Given the description of an element on the screen output the (x, y) to click on. 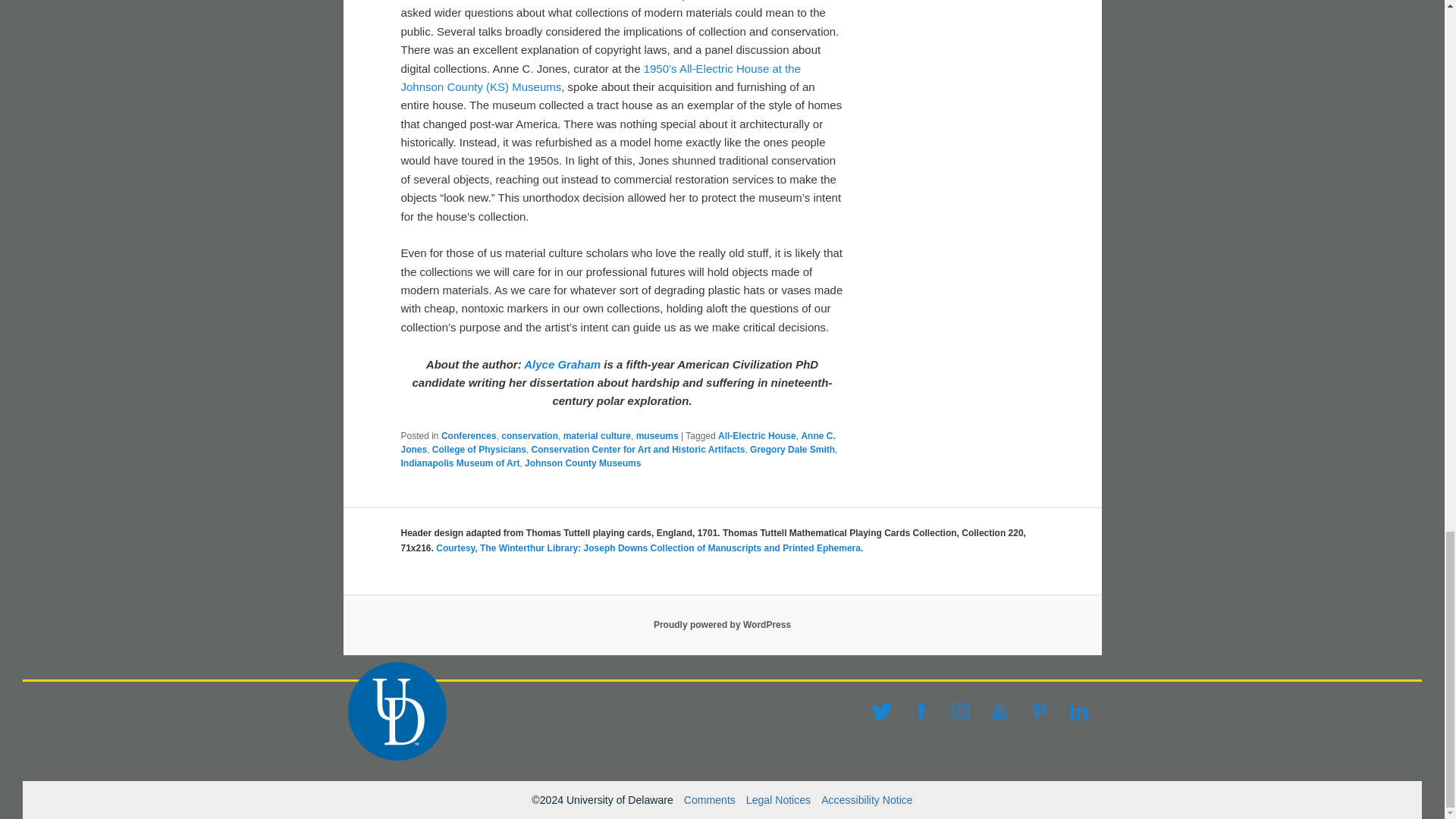
Subscribe me! (1027, 388)
material culture (596, 435)
Indianapolis Museum of Art (459, 462)
conservation (528, 435)
Proudly powered by WordPress (721, 624)
Conservation Center for Art and Historic Artifacts (638, 449)
College of Physicians (478, 449)
Alyce Graham Bio (561, 364)
museums (657, 435)
Conferences (468, 435)
All-Electric House (756, 435)
Semantic Personal Publishing Platform (721, 624)
Alyce Graham (561, 364)
Gregory Dale Smith (791, 449)
